Given the description of an element on the screen output the (x, y) to click on. 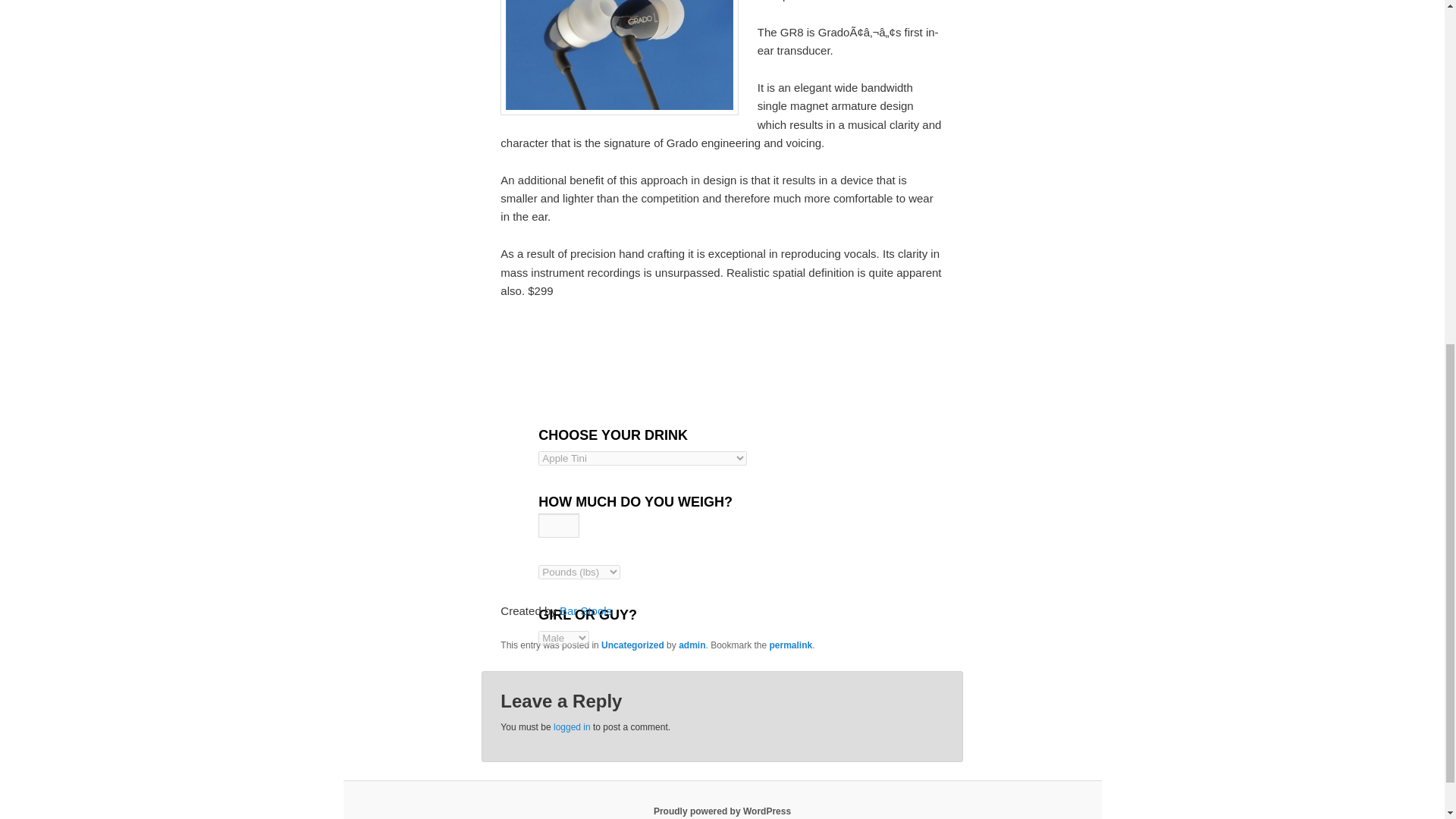
admin (691, 644)
Bar Stools (585, 610)
Uncategorized (632, 644)
Proudly powered by WordPress (721, 810)
permalink (791, 644)
Semantic Personal Publishing Platform (721, 810)
Permalink to GRADO GR8 Ear Buds! (791, 644)
CALCULATE NOW (588, 681)
logged in (572, 726)
CALCULATE NOW (588, 681)
